Given the description of an element on the screen output the (x, y) to click on. 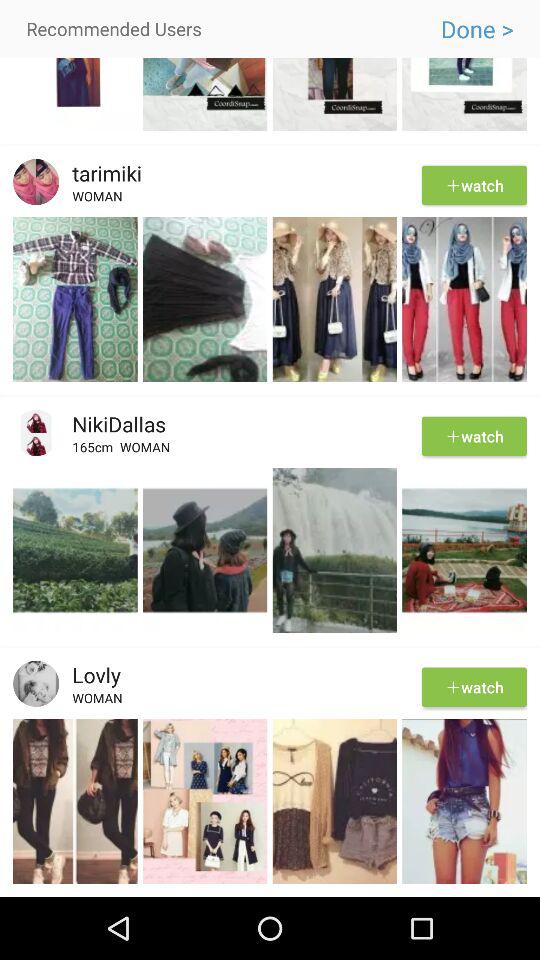
scroll to the nikidallas item (112, 423)
